Given the description of an element on the screen output the (x, y) to click on. 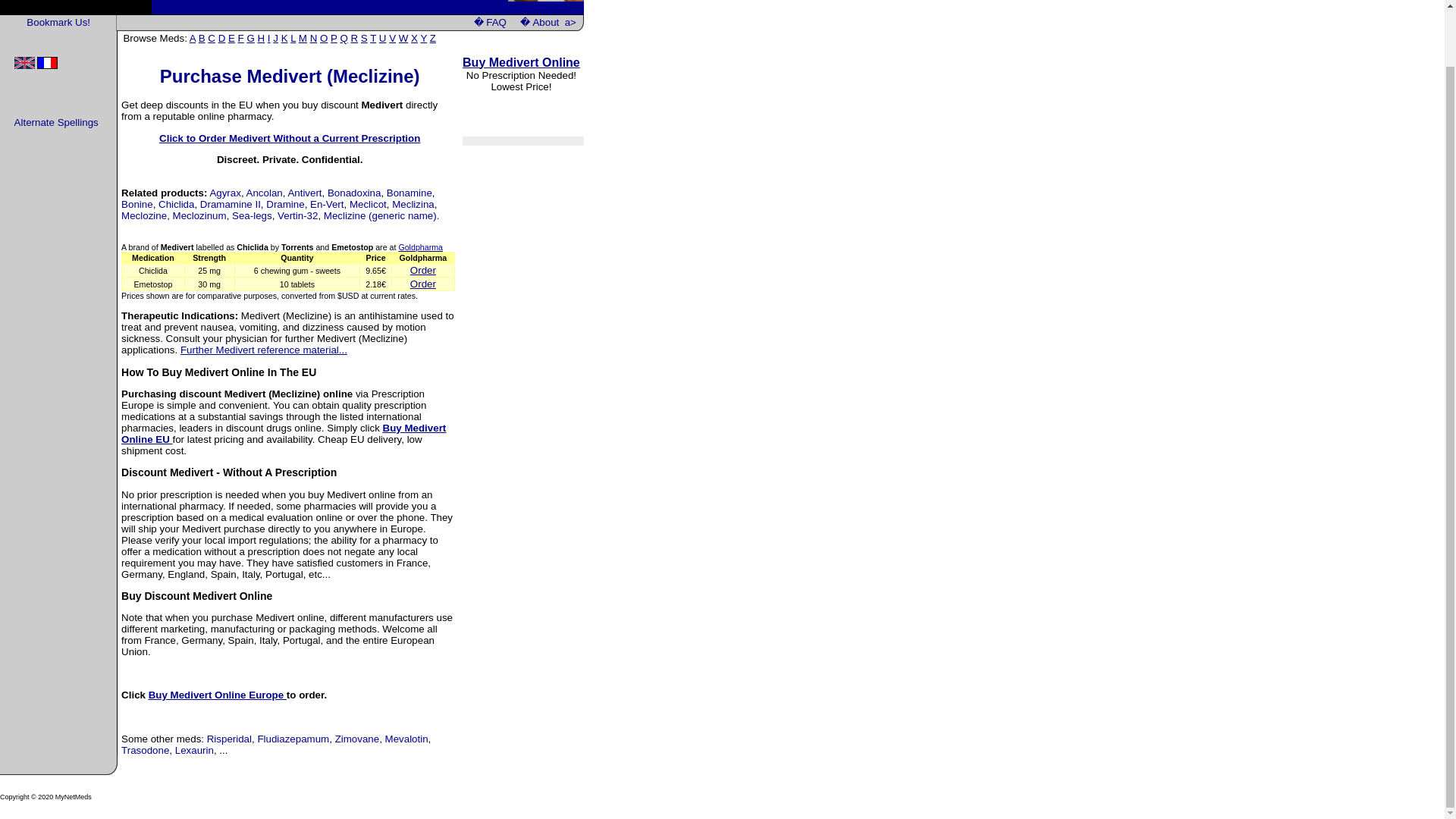
En-Vert (326, 204)
Dramine (285, 204)
Bonamine (409, 193)
Meclozine (143, 215)
Buy Medivert Online EU (282, 433)
Trasodone (144, 749)
Bookmark Us! (58, 21)
Vertin-32 (297, 215)
Buy Medivert Online Europe (215, 695)
Click to Order Medivert Without a Current Prescription (289, 138)
